Given the description of an element on the screen output the (x, y) to click on. 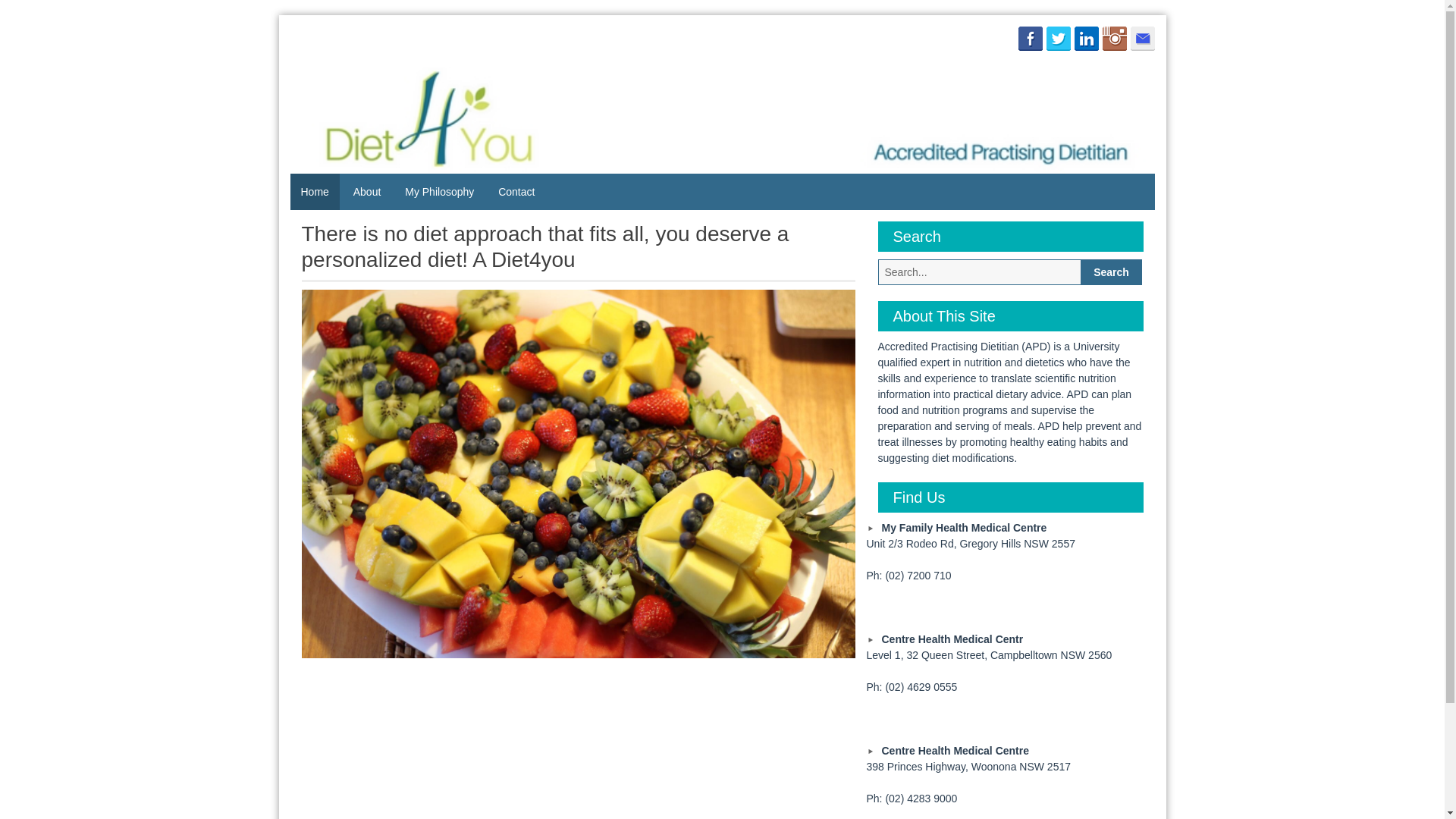
Home Element type: text (313, 191)
About Element type: text (367, 191)
My Philosophy Element type: text (439, 191)
Contact Element type: text (516, 191)
Search for: Element type: hover (979, 272)
Diet4You Element type: text (355, 101)
Search Element type: text (1111, 272)
